Given the description of an element on the screen output the (x, y) to click on. 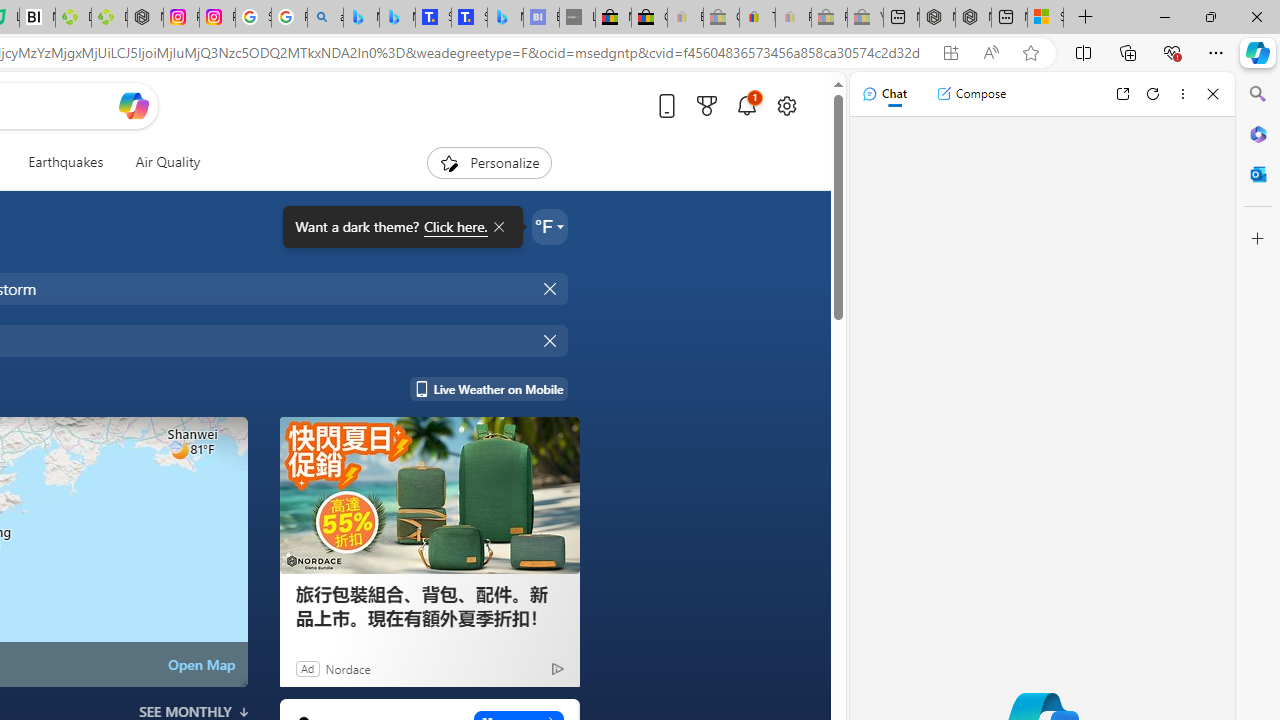
Nordace - Nordace Edin Collection (145, 17)
Payments Terms of Use | eBay.com - Sleeping (793, 17)
Compose (971, 93)
Nvidia va a poner a prueba la paciencia de los inversores (37, 17)
Microsoft rewards (707, 105)
Air Quality (159, 162)
Press Room - eBay Inc. - Sleeping (829, 17)
Descarga Driver Updater (109, 17)
